Given the description of an element on the screen output the (x, y) to click on. 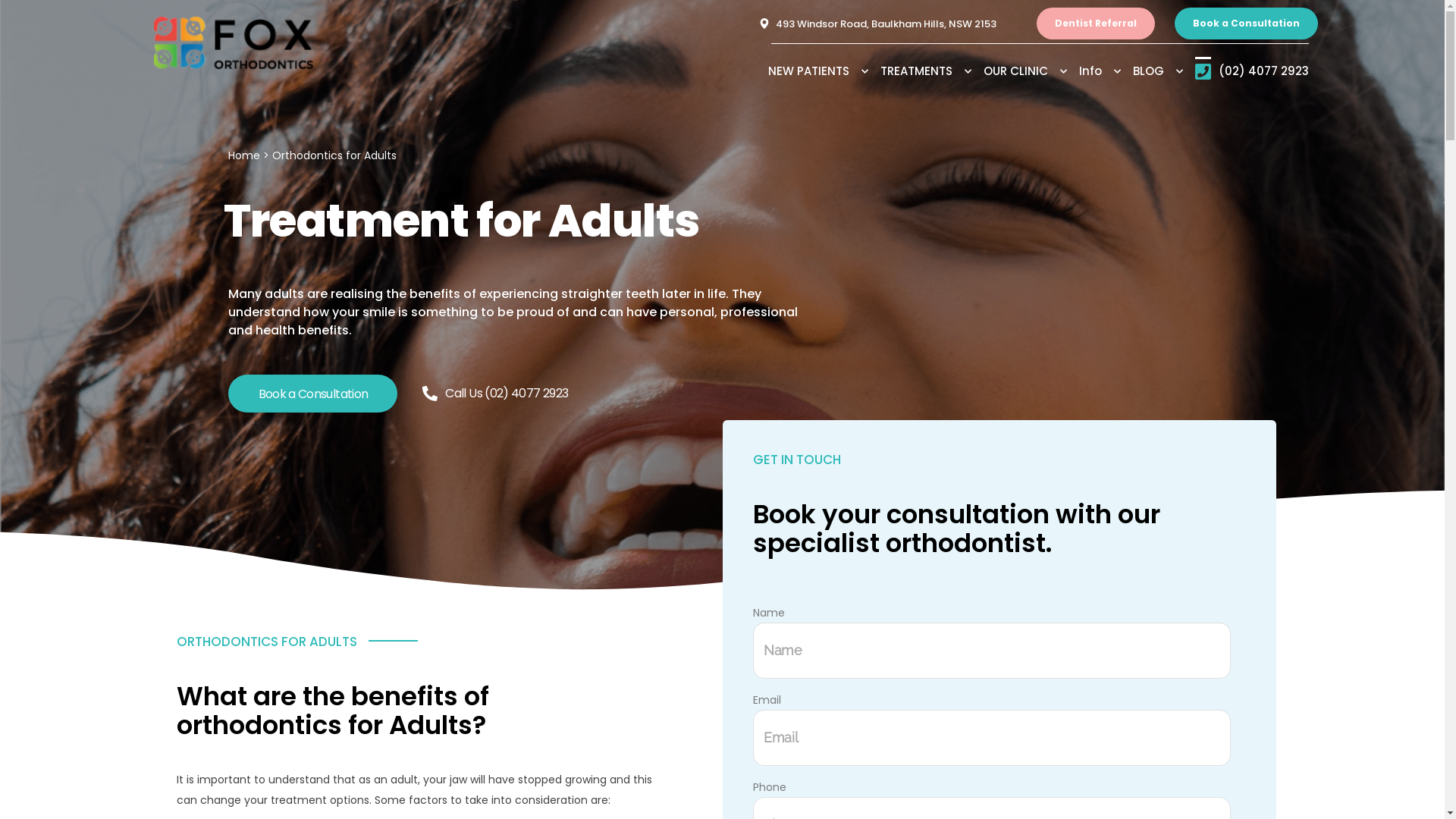
OUR CLINIC Element type: text (1030, 71)
Home Element type: text (243, 155)
BLOG Element type: text (1163, 71)
(02) 4077 2923 Element type: text (1251, 71)
Dentist Referral Element type: text (1095, 23)
Book a Consultation Element type: text (1245, 23)
Info Element type: text (1105, 71)
NEW PATIENTS Element type: text (823, 71)
Call Us (02) 4077 2923 Element type: text (494, 392)
493 Windsor Road, Baulkham Hills, NSW 2153 Element type: text (893, 23)
Book a Consultation Element type: text (312, 393)
TREATMENTS Element type: text (930, 71)
